Given the description of an element on the screen output the (x, y) to click on. 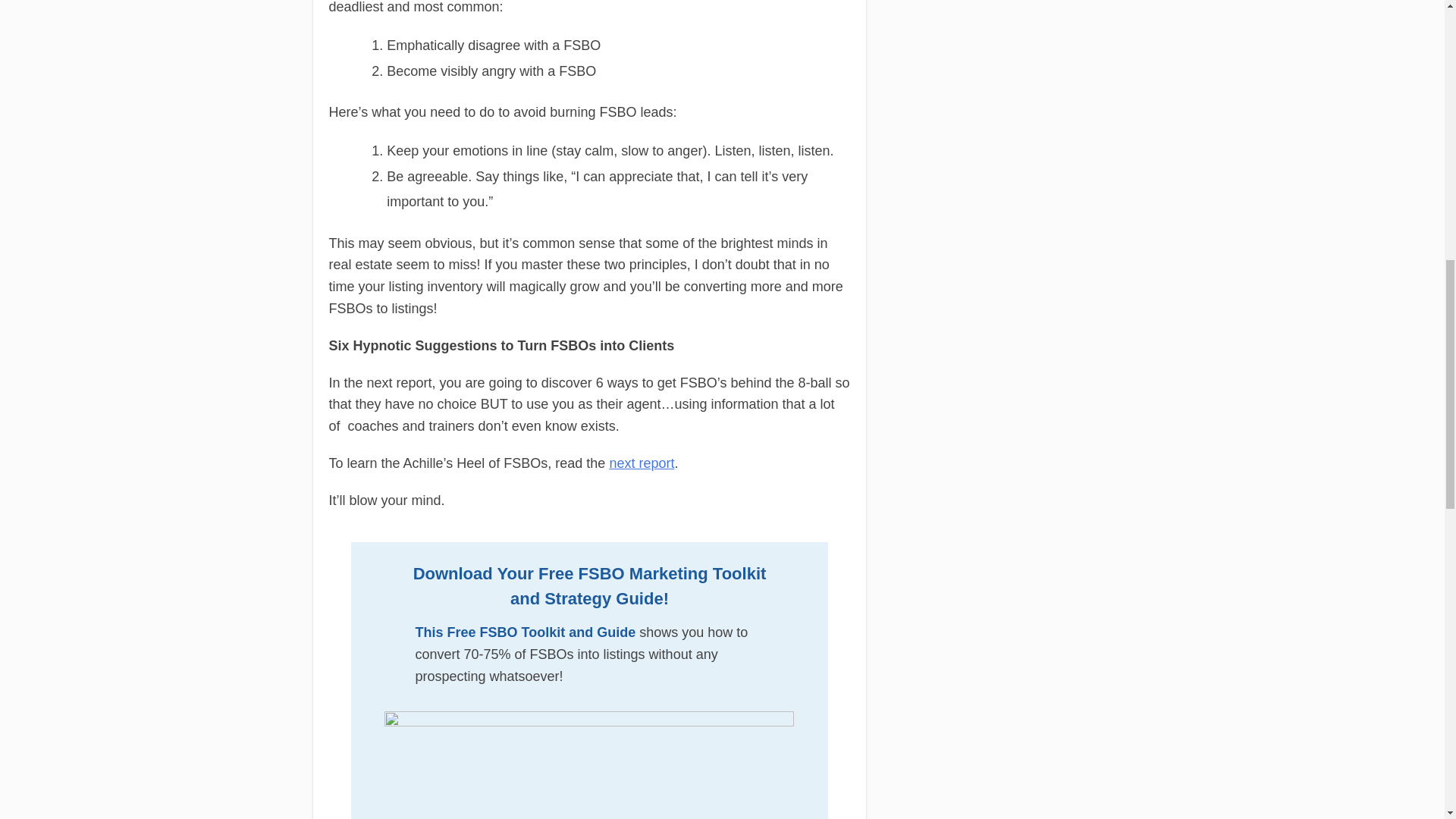
imac-lg-min2 (588, 765)
The Man with the Instinct to Make Money (641, 462)
next report (641, 462)
